Given the description of an element on the screen output the (x, y) to click on. 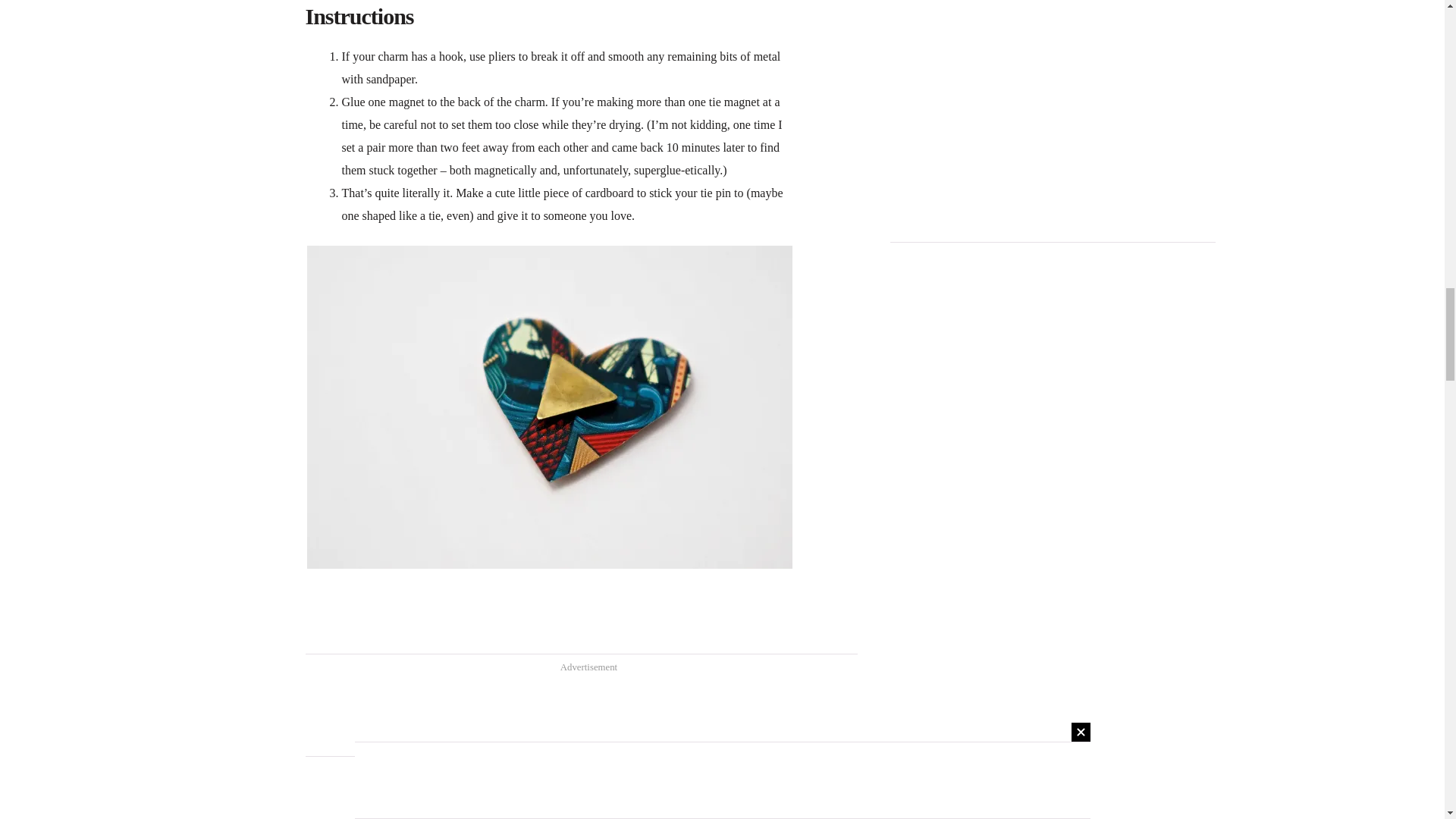
3rd party ad content (580, 714)
